Given the description of an element on the screen output the (x, y) to click on. 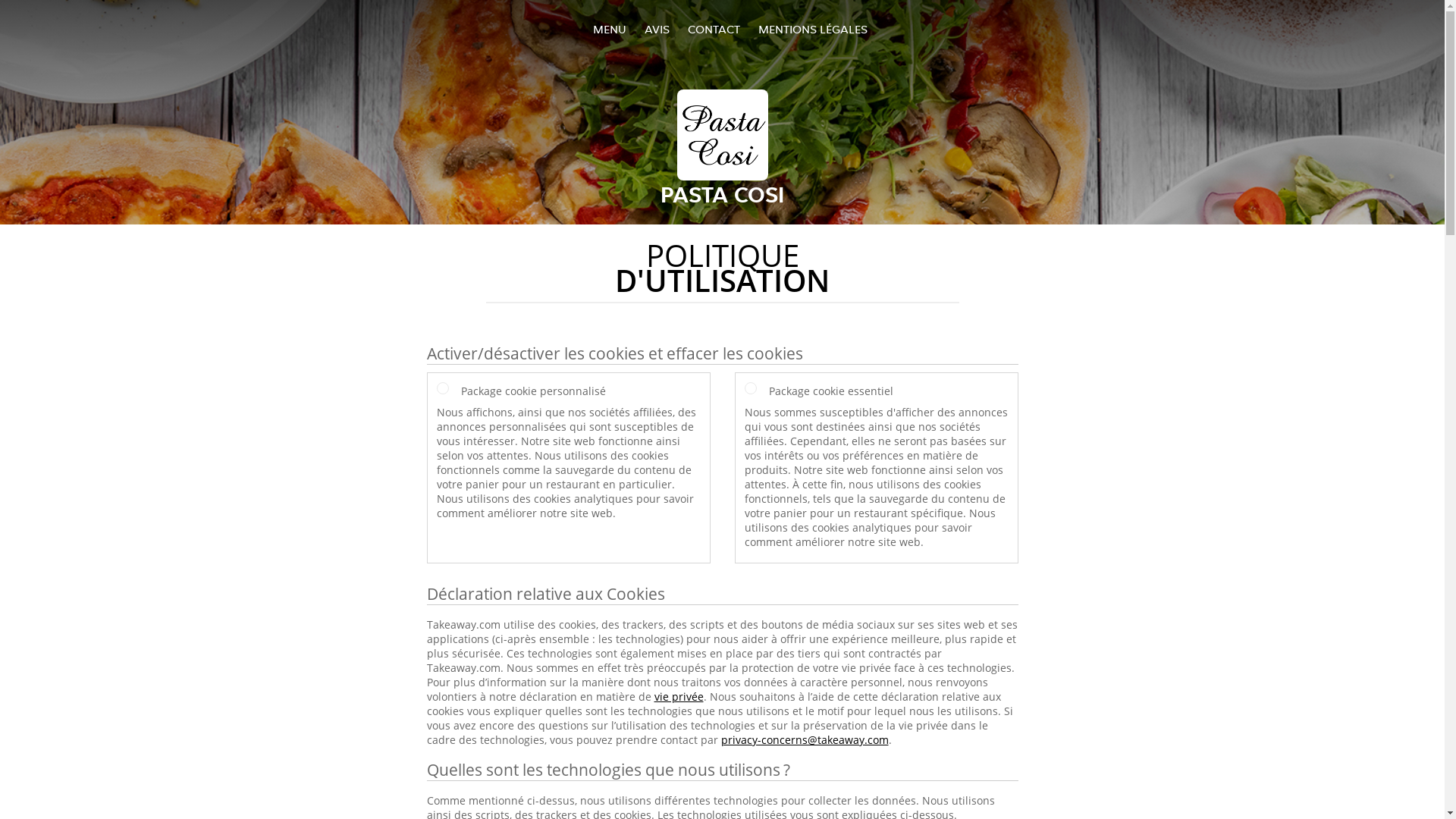
MENU Element type: text (609, 29)
AVIS Element type: text (656, 29)
CONTACT Element type: text (713, 29)
privacy-concerns@takeaway.com Element type: text (804, 739)
